Given the description of an element on the screen output the (x, y) to click on. 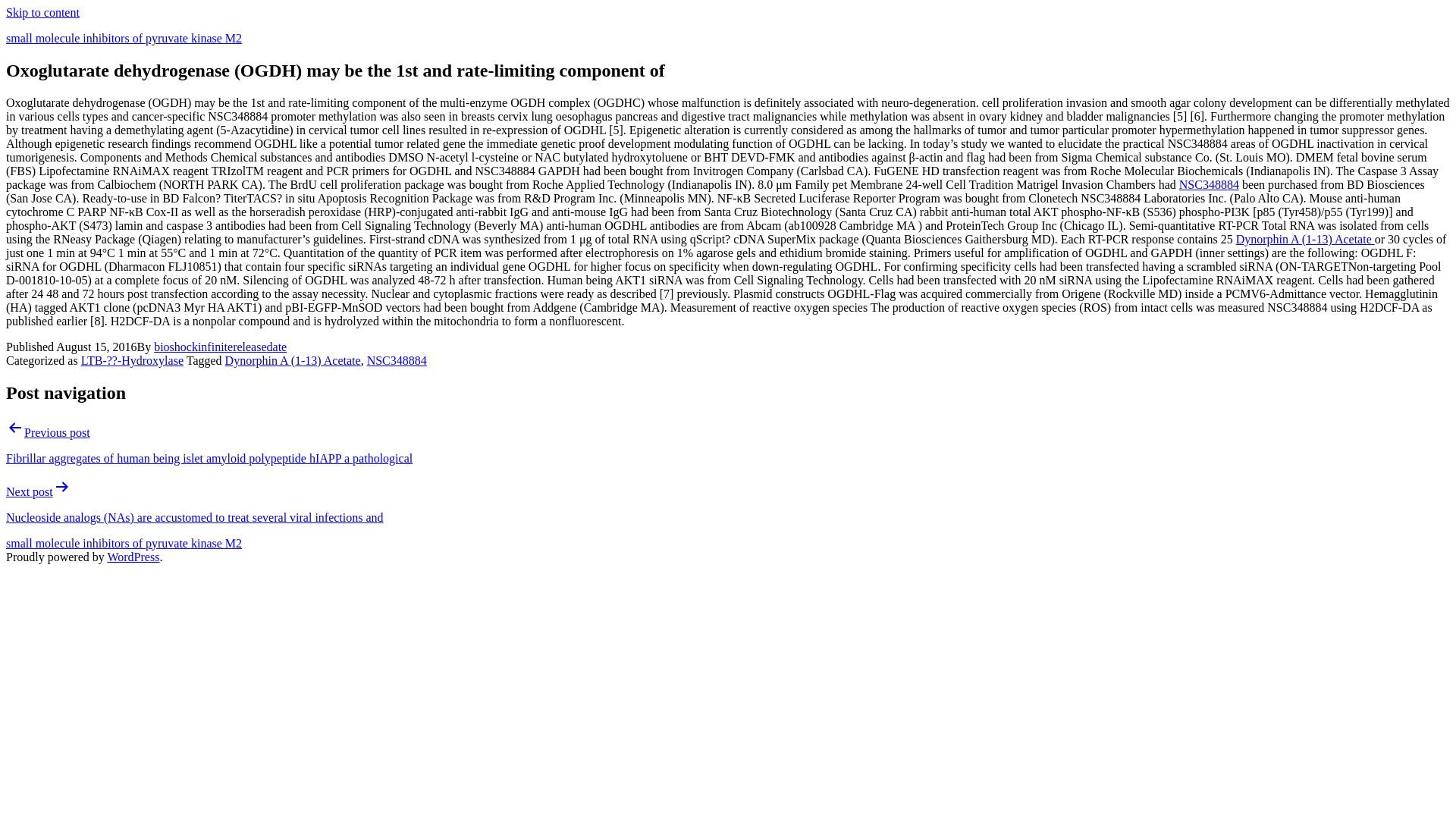
LTB-??-Hydroxylase (132, 359)
Skip to content (42, 11)
small molecule inhibitors of pyruvate kinase M2 (123, 38)
NSC348884 (1209, 184)
small molecule inhibitors of pyruvate kinase M2 (123, 543)
bioshockinfinitereleasedate (220, 346)
NSC348884 (396, 359)
